Given the description of an element on the screen output the (x, y) to click on. 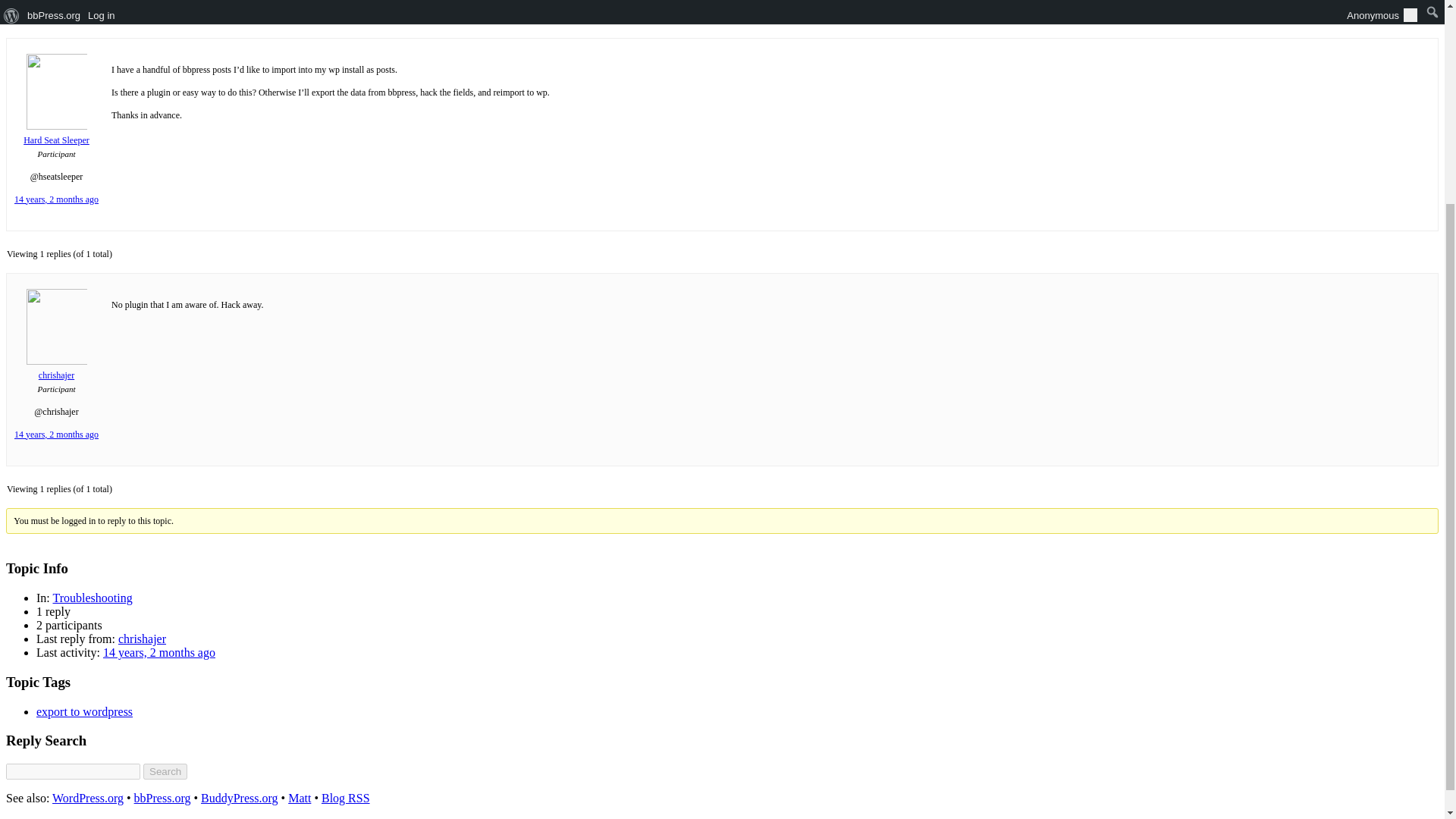
14 years, 2 months ago (159, 652)
Search (164, 771)
14 years, 2 months ago (56, 199)
export to wordpress (84, 711)
Matt (299, 797)
BuddyPress.org (239, 797)
Search (164, 771)
14 years, 2 months ago (56, 434)
WordPress.org (87, 797)
Blog RSS (345, 797)
